Given the description of an element on the screen output the (x, y) to click on. 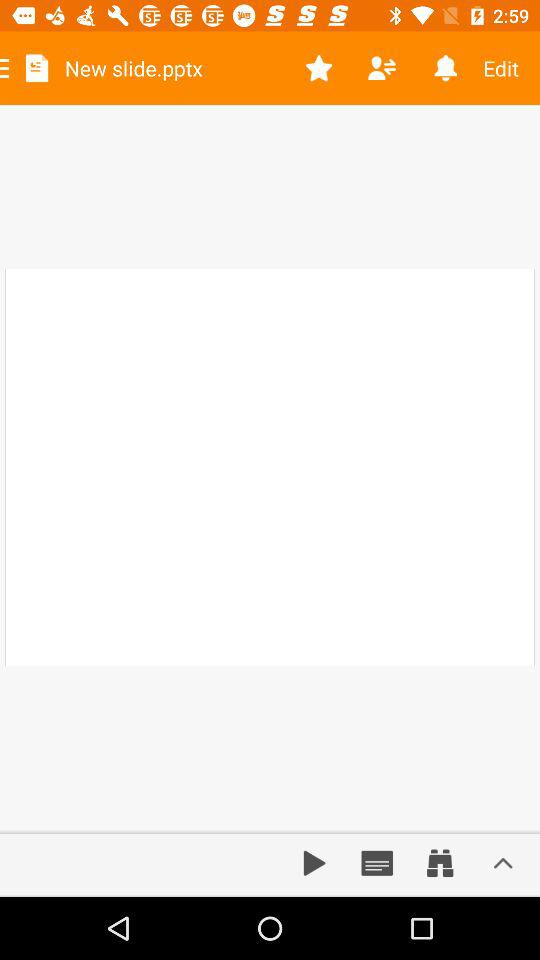
go to next slide (314, 863)
